Given the description of an element on the screen output the (x, y) to click on. 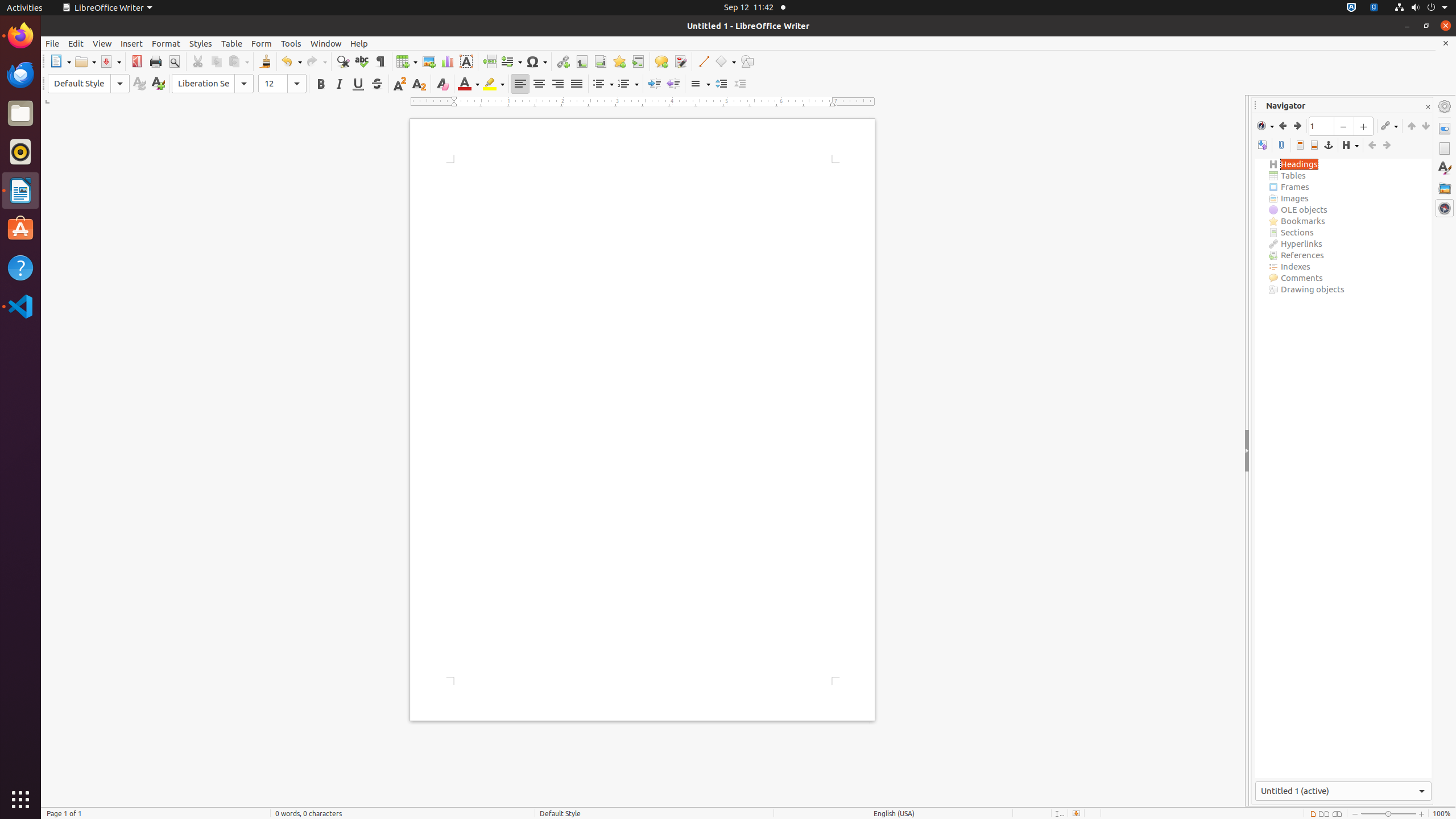
Promote Level Element type: push-button (1372, 144)
Print Element type: push-button (155, 61)
Symbol Element type: push-button (535, 61)
Page Break Element type: push-button (489, 61)
Header Element type: push-button (1299, 144)
